Given the description of an element on the screen output the (x, y) to click on. 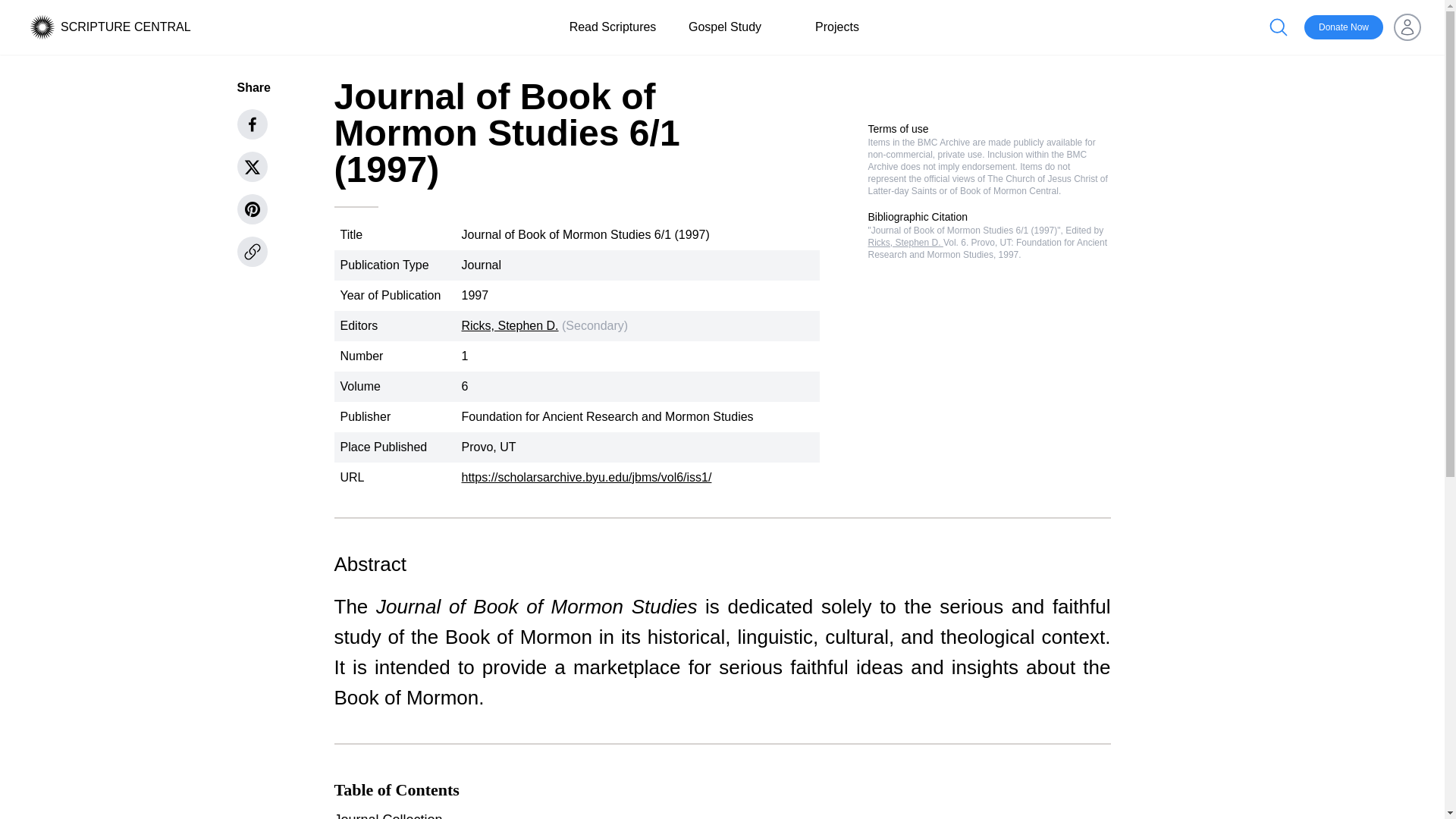
Read Scriptures (612, 26)
Open user menu (1406, 27)
Projects (837, 26)
Ricks, Stephen D. (509, 325)
Read Scriptures (612, 27)
Gospel Study (724, 26)
Donate Now (1343, 27)
SCRIPTURE CENTRAL (125, 27)
Gospel Study (724, 27)
